Given the description of an element on the screen output the (x, y) to click on. 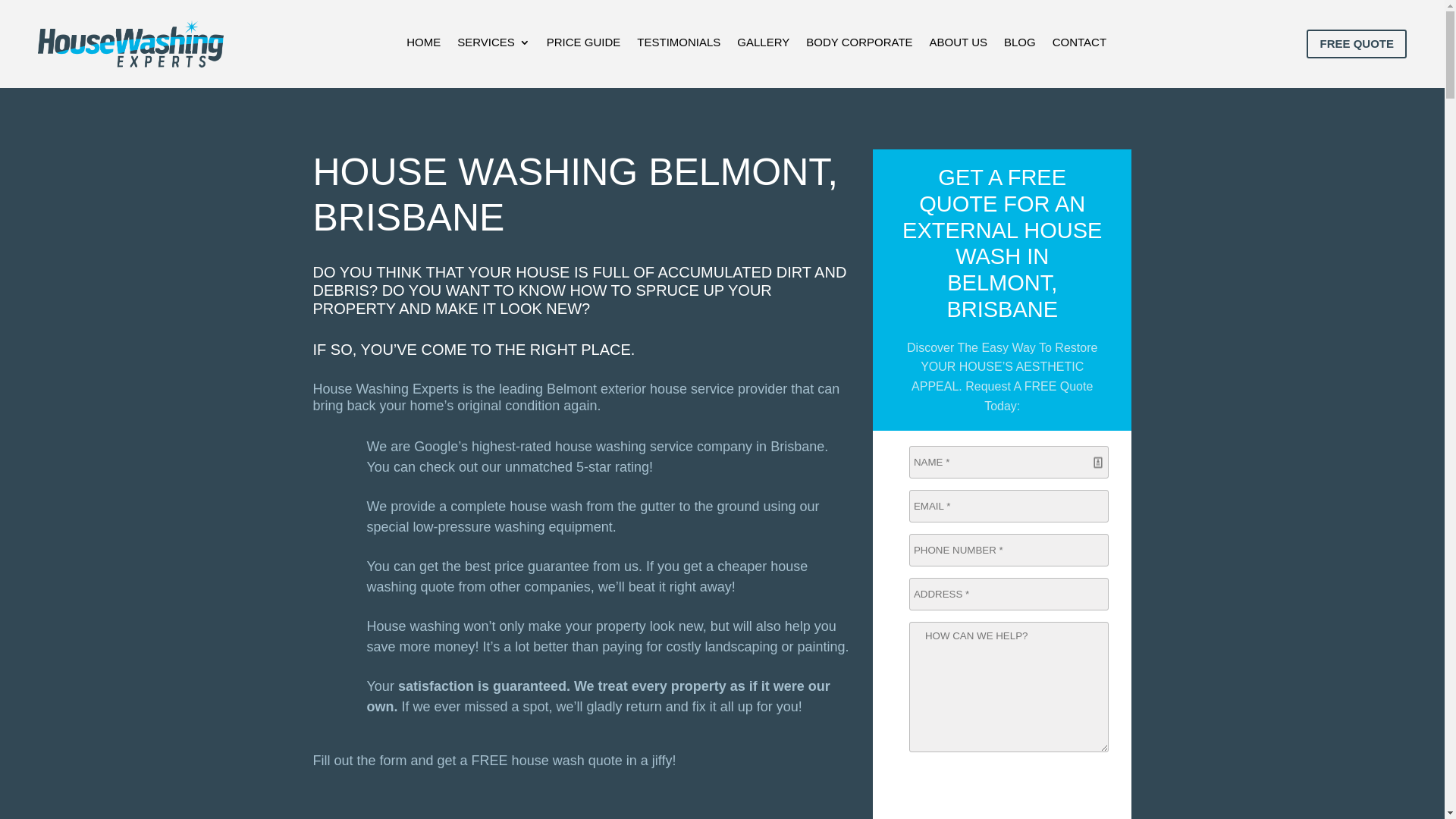
logo-new Element type: hover (130, 43)
SERVICES Element type: text (493, 47)
HOME Element type: text (423, 47)
ABOUT US Element type: text (958, 47)
PRICE GUIDE Element type: text (583, 47)
GALLERY Element type: text (763, 47)
BLOG Element type: text (1019, 47)
FREE QUOTE Element type: text (1356, 44)
BODY CORPORATE Element type: text (859, 47)
CONTACT Element type: text (1079, 47)
TESTIMONIALS Element type: text (678, 47)
